Given the description of an element on the screen output the (x, y) to click on. 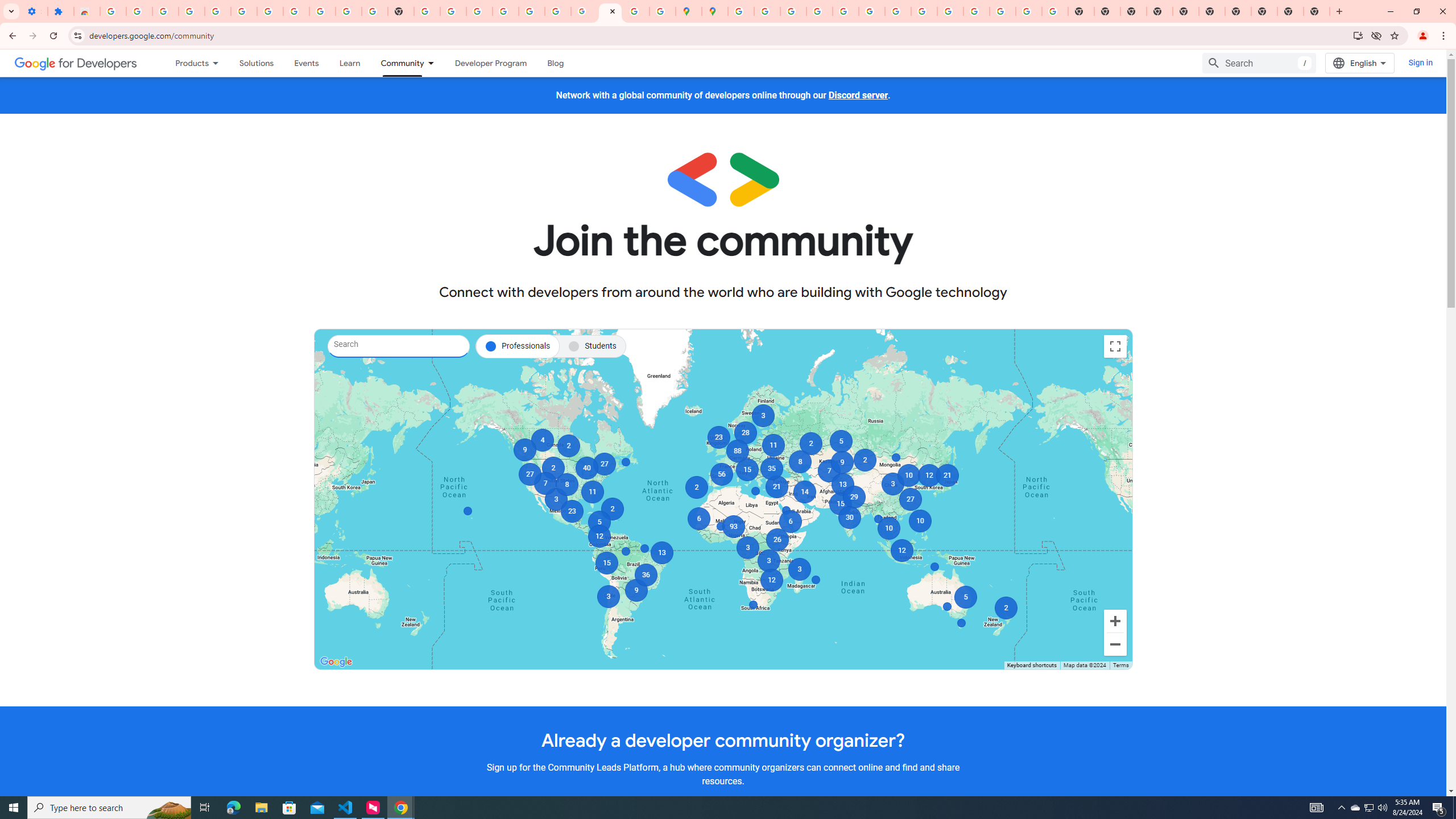
30 (848, 517)
YouTube (348, 11)
https://scholar.google.com/ (427, 11)
Privacy Help Center - Policies Help (792, 11)
Community, selected (396, 62)
Terms (1120, 665)
36 (646, 574)
Google for Developers (75, 63)
Sign in - Google Accounts (505, 11)
Discord server (858, 95)
